Given the description of an element on the screen output the (x, y) to click on. 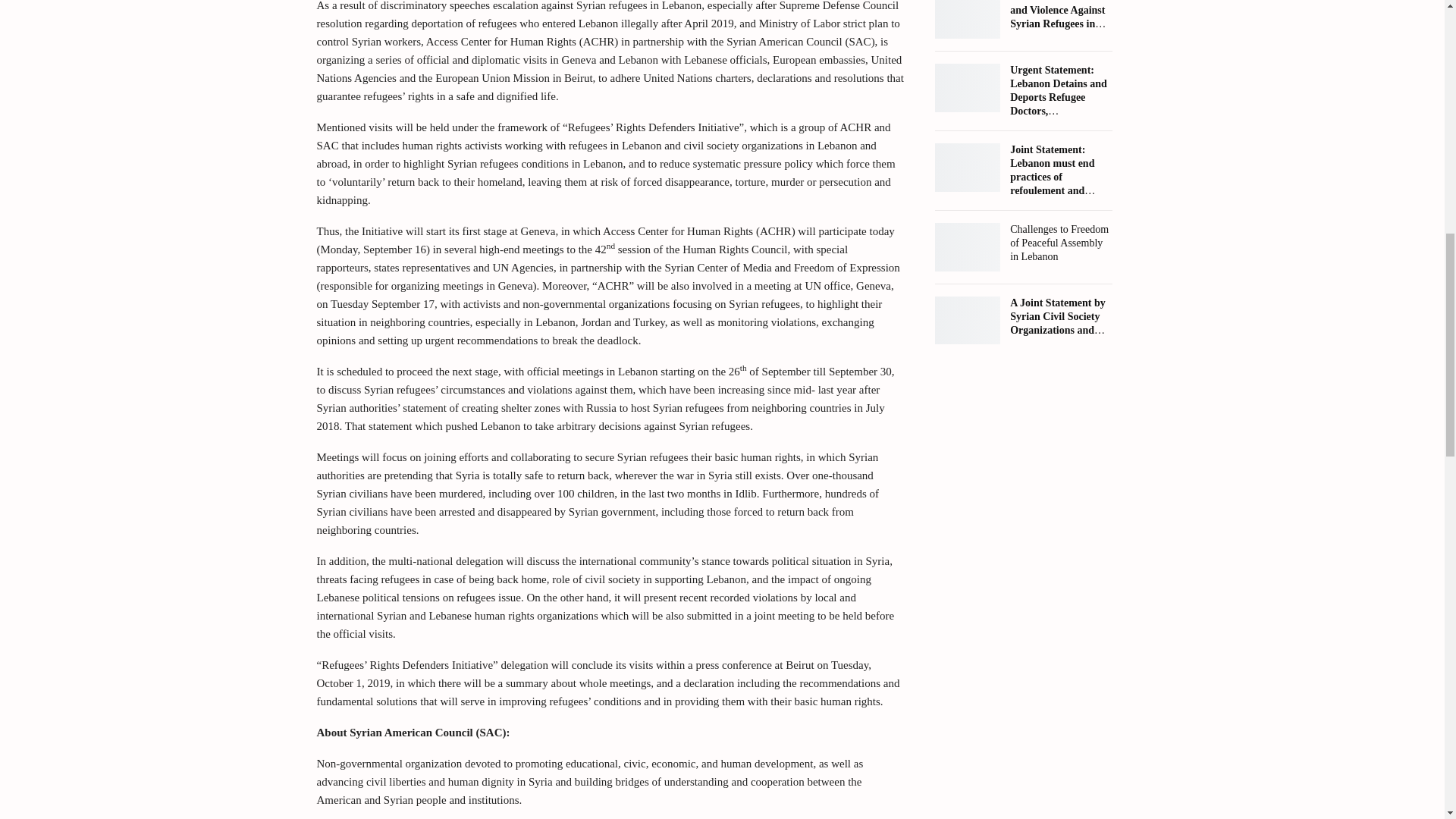
Challenges to Freedom of Peaceful Assembly in Lebanon (967, 246)
